Given the description of an element on the screen output the (x, y) to click on. 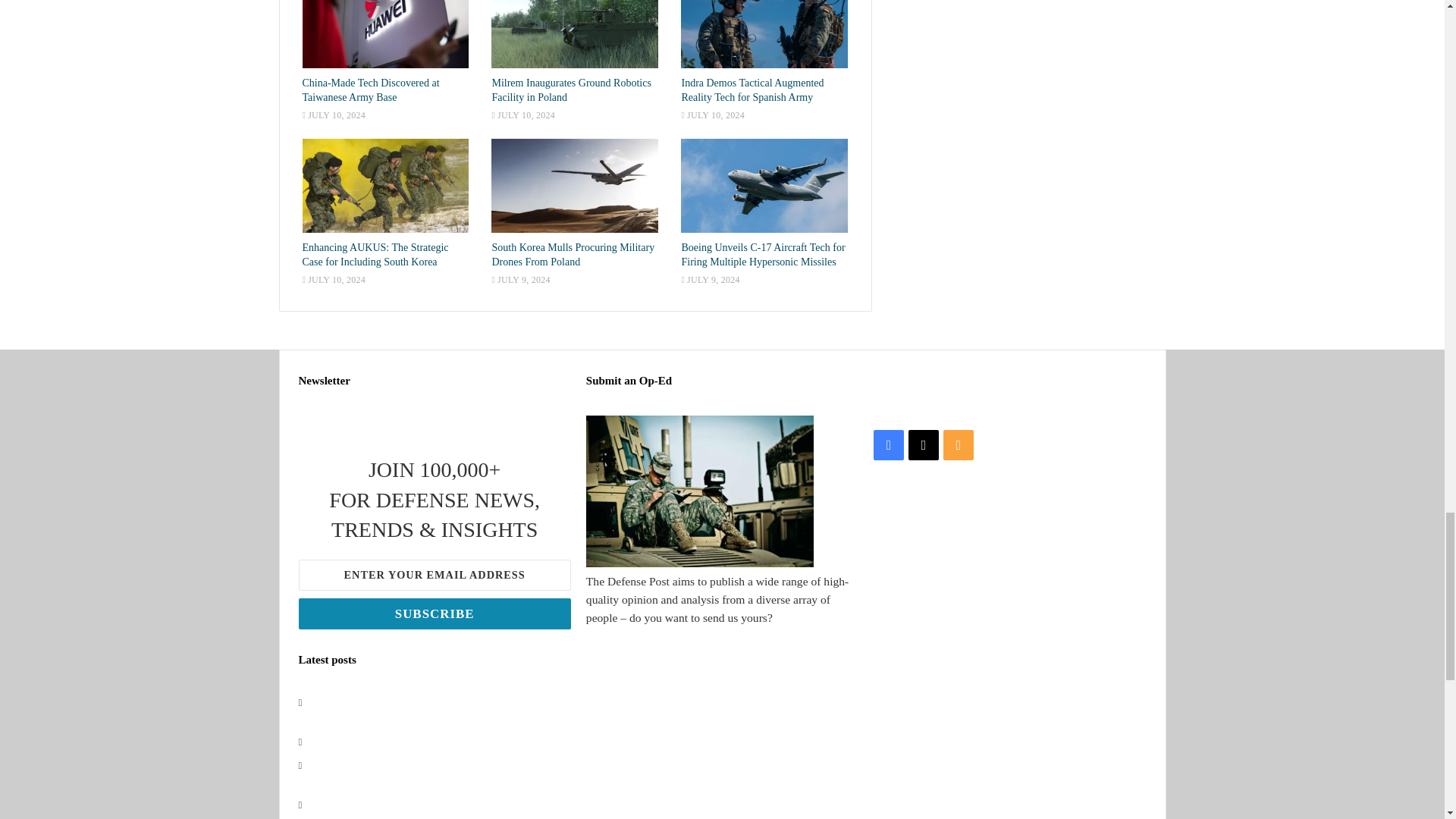
Subscribe (434, 613)
